Given the description of an element on the screen output the (x, y) to click on. 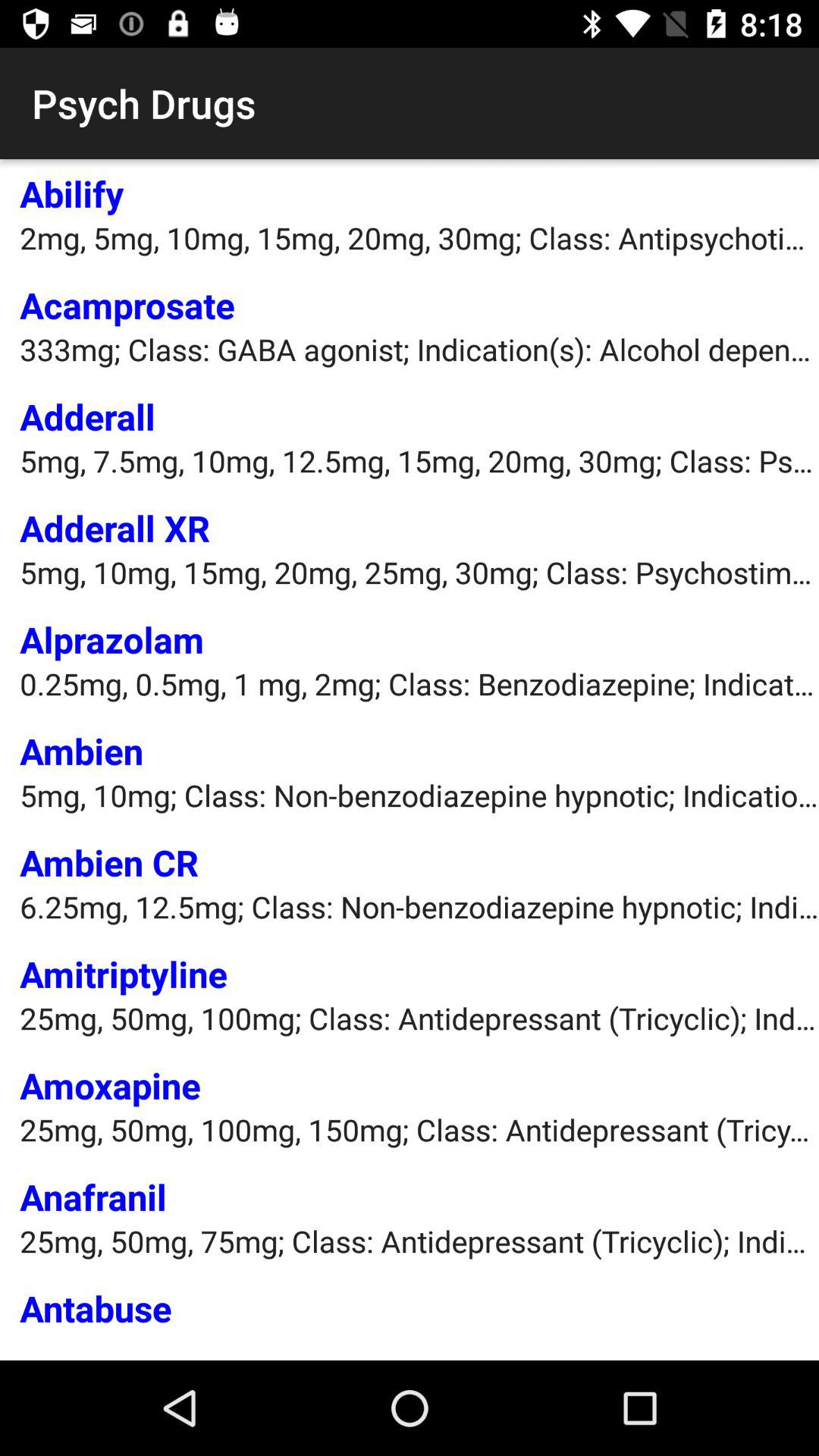
tap the item above 25mg 50mg 75mg item (92, 1196)
